Given the description of an element on the screen output the (x, y) to click on. 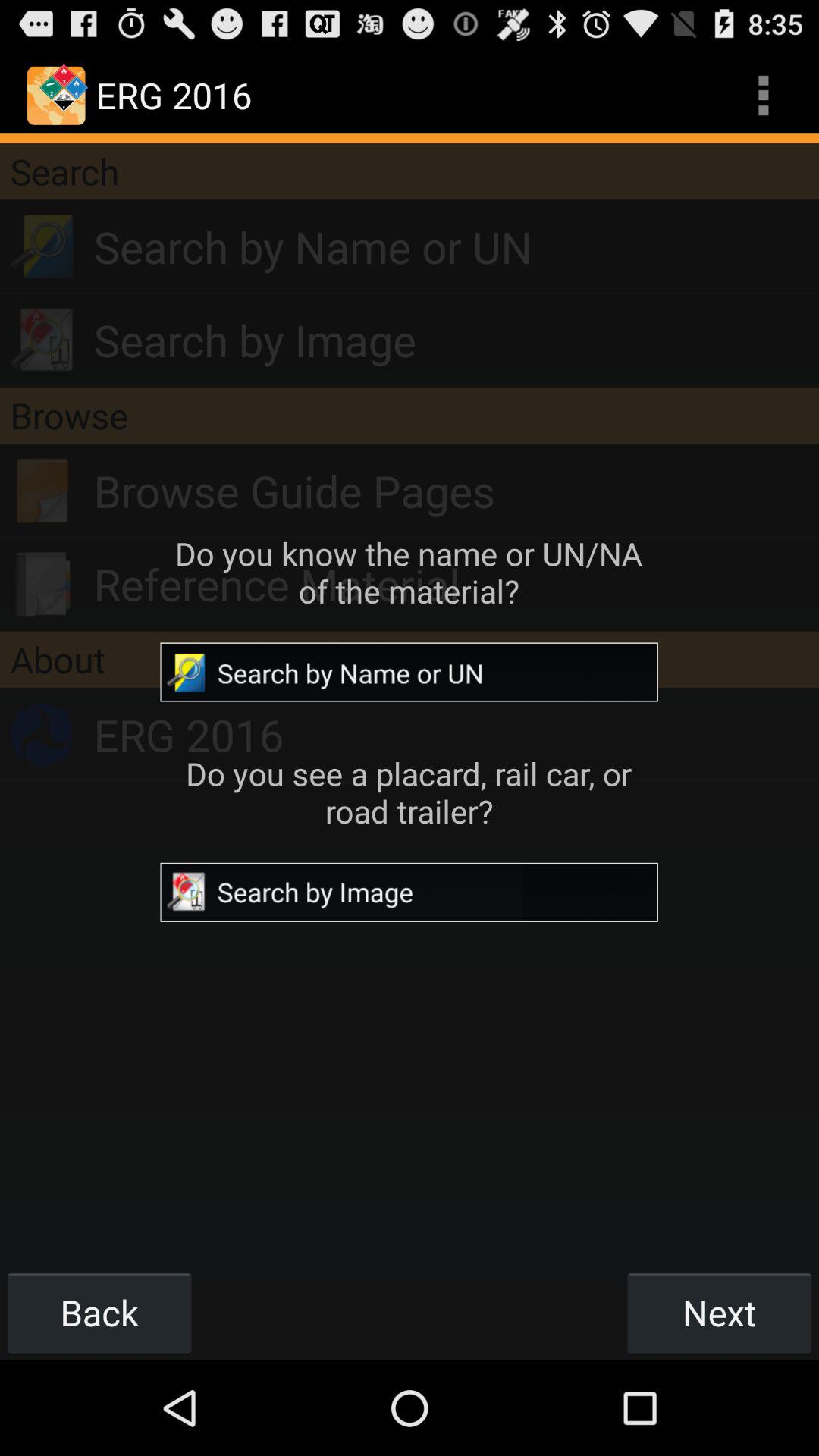
turn off next icon (719, 1312)
